Given the description of an element on the screen output the (x, y) to click on. 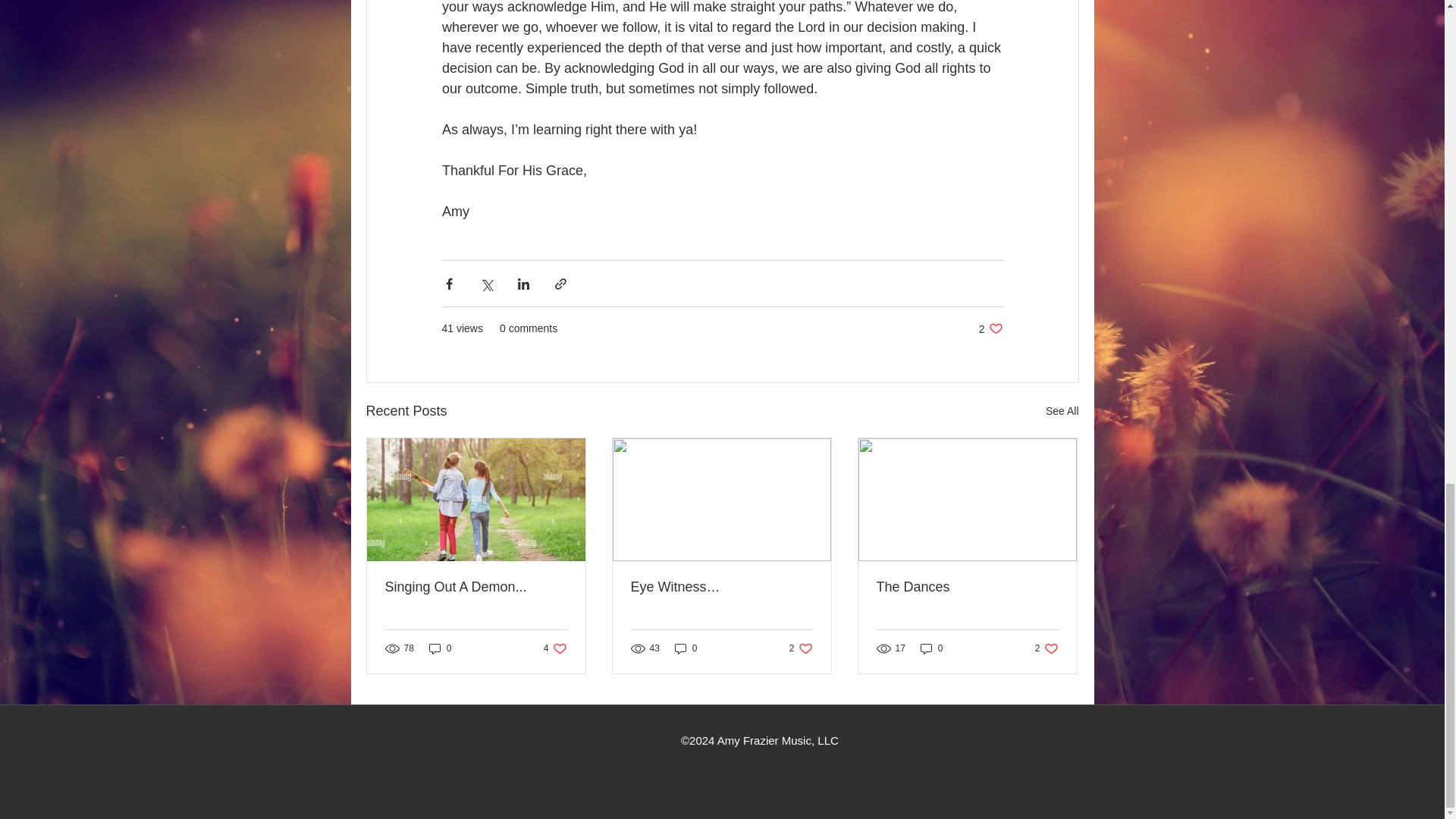
See All (1061, 411)
Singing Out A Demon... (1046, 648)
0 (476, 587)
0 (931, 648)
0 (800, 648)
The Dances (990, 328)
